Given the description of an element on the screen output the (x, y) to click on. 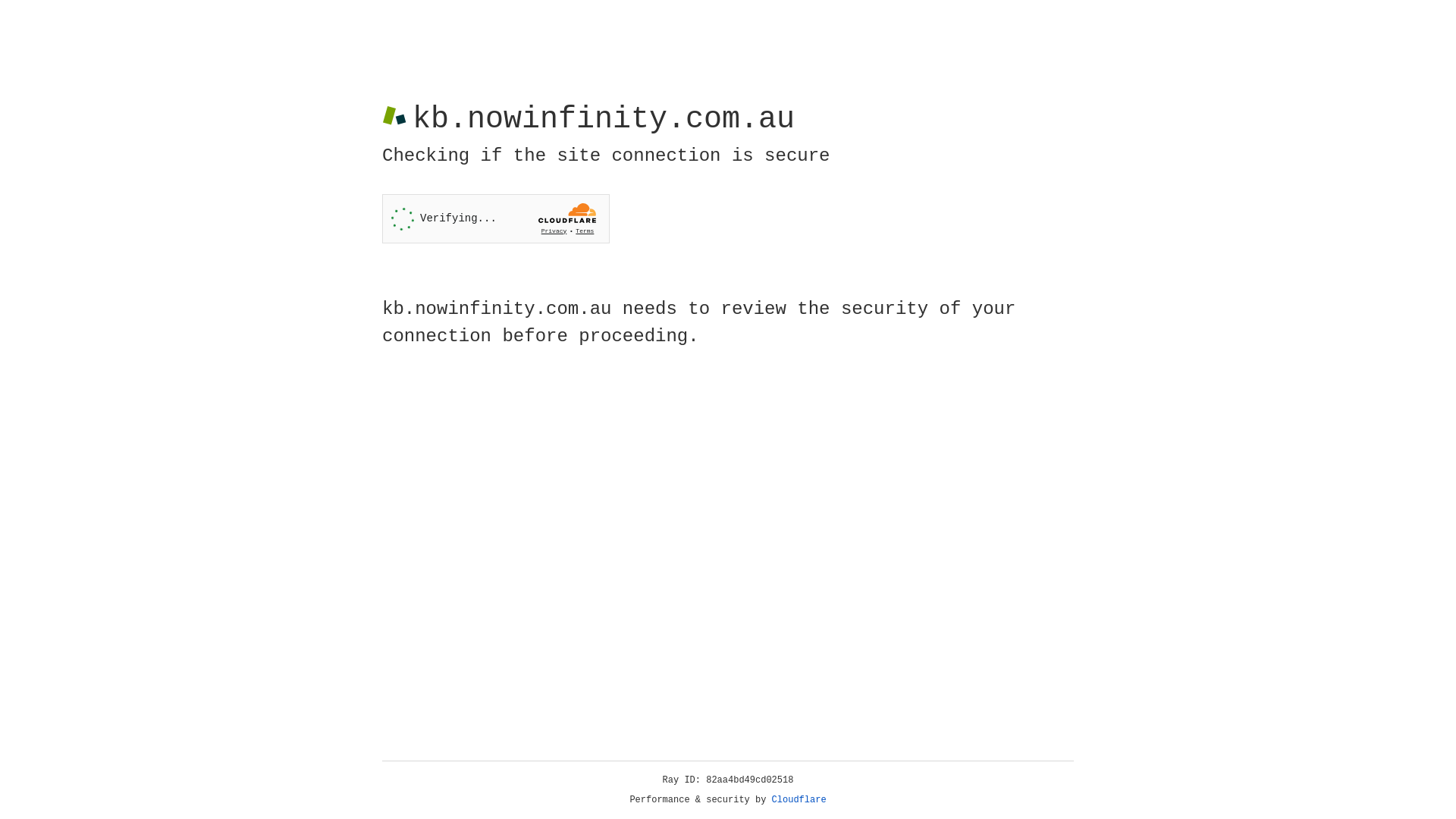
Widget containing a Cloudflare security challenge Element type: hover (495, 218)
Cloudflare Element type: text (798, 799)
